Given the description of an element on the screen output the (x, y) to click on. 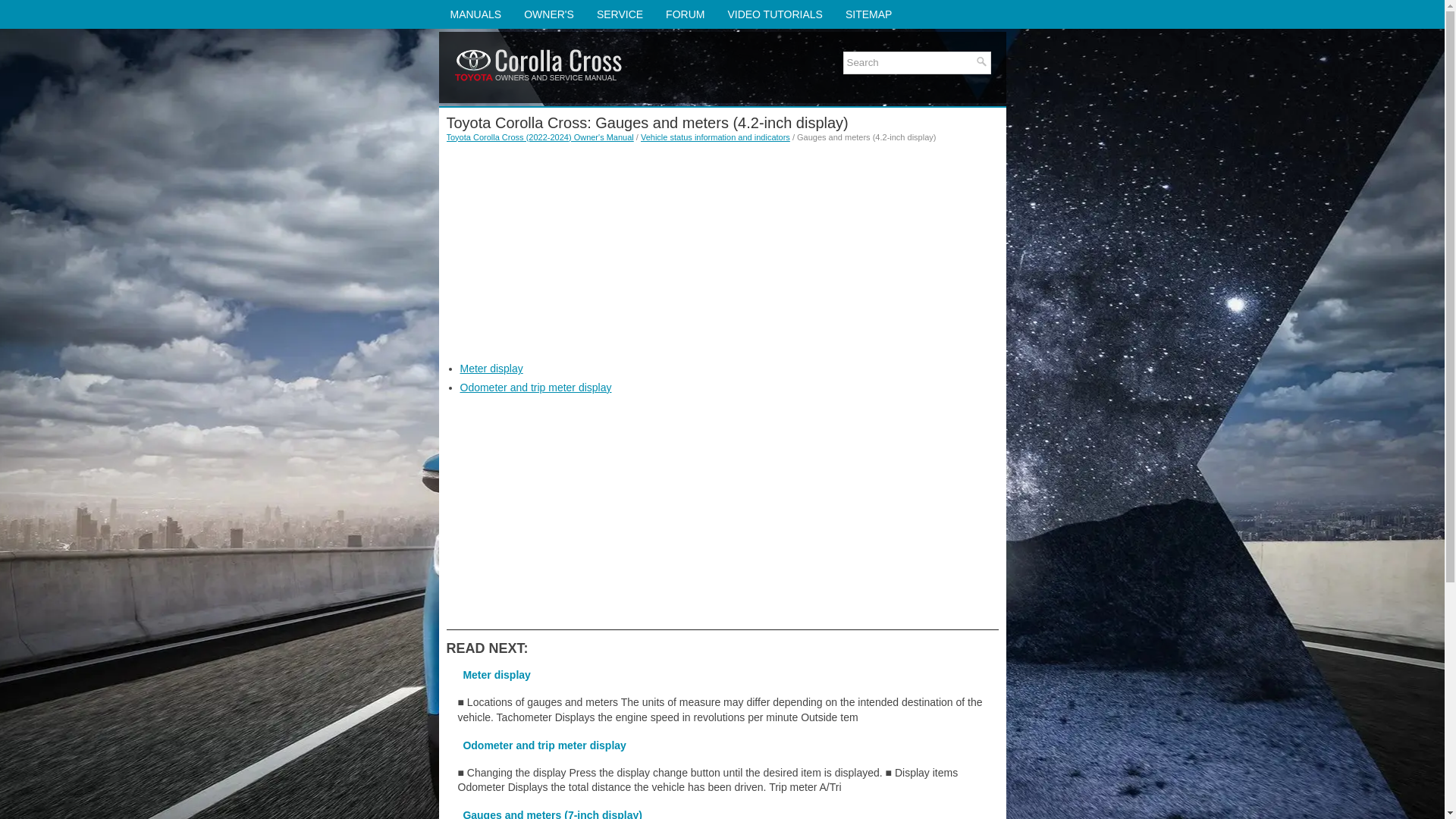
OWNER'S (548, 14)
Search (909, 61)
Vehicle status information and indicators (715, 136)
Meter display (491, 368)
FORUM (684, 14)
SERVICE (619, 14)
VIDEO TUTORIALS (775, 14)
SITEMAP (868, 14)
Odometer and trip meter display (535, 387)
Toyota Corolla Cross Service Manual (619, 14)
